Given the description of an element on the screen output the (x, y) to click on. 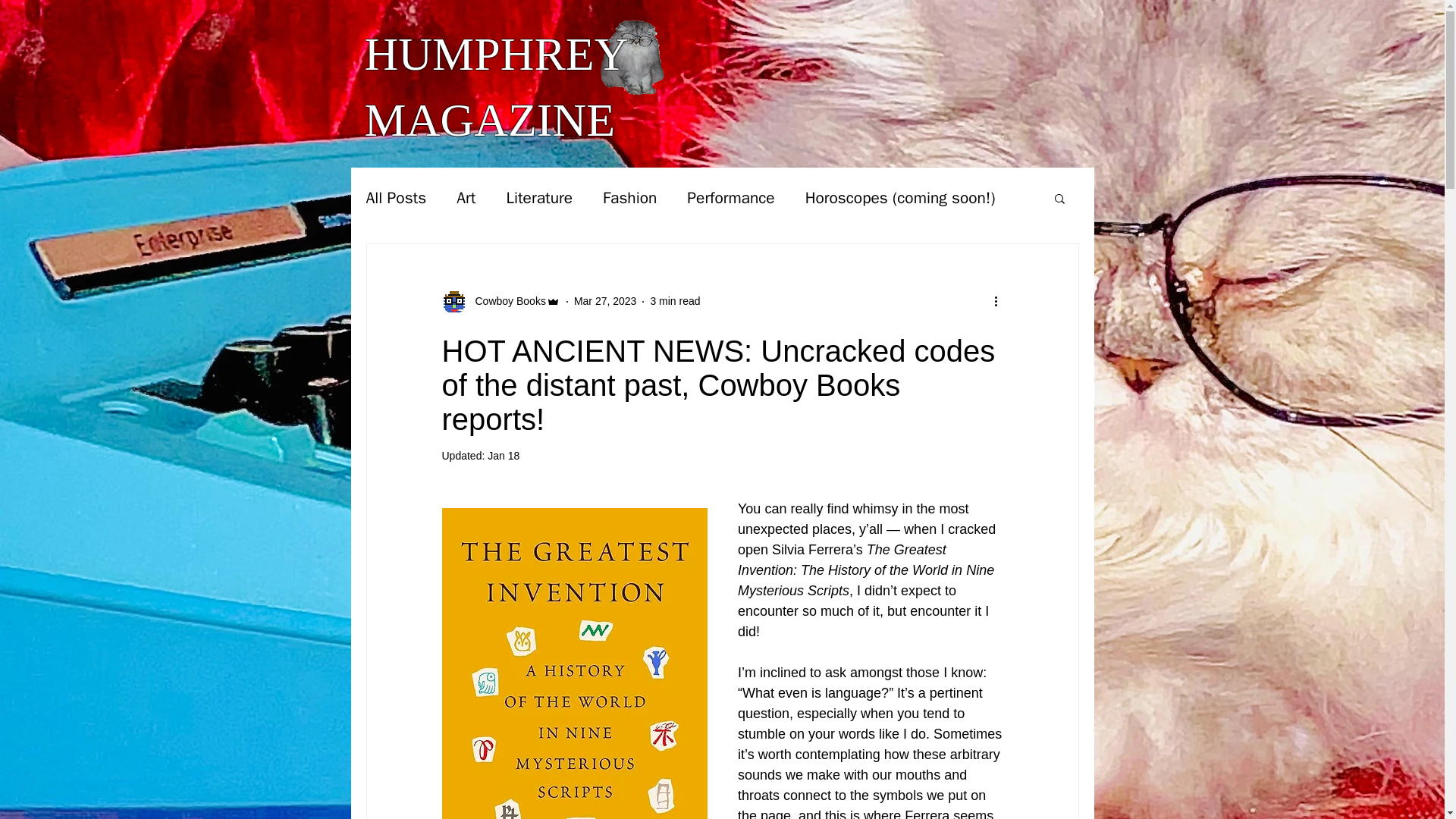
Fashion (629, 197)
Art (466, 197)
Jan 18 (503, 455)
Mar 27, 2023 (605, 300)
Literature (538, 197)
HUMPHREY MAGAZINE (495, 86)
3 min read (674, 300)
All Posts (395, 197)
Performance (730, 197)
Cowboy Books (500, 301)
Cowboy Books (504, 301)
